Given the description of an element on the screen output the (x, y) to click on. 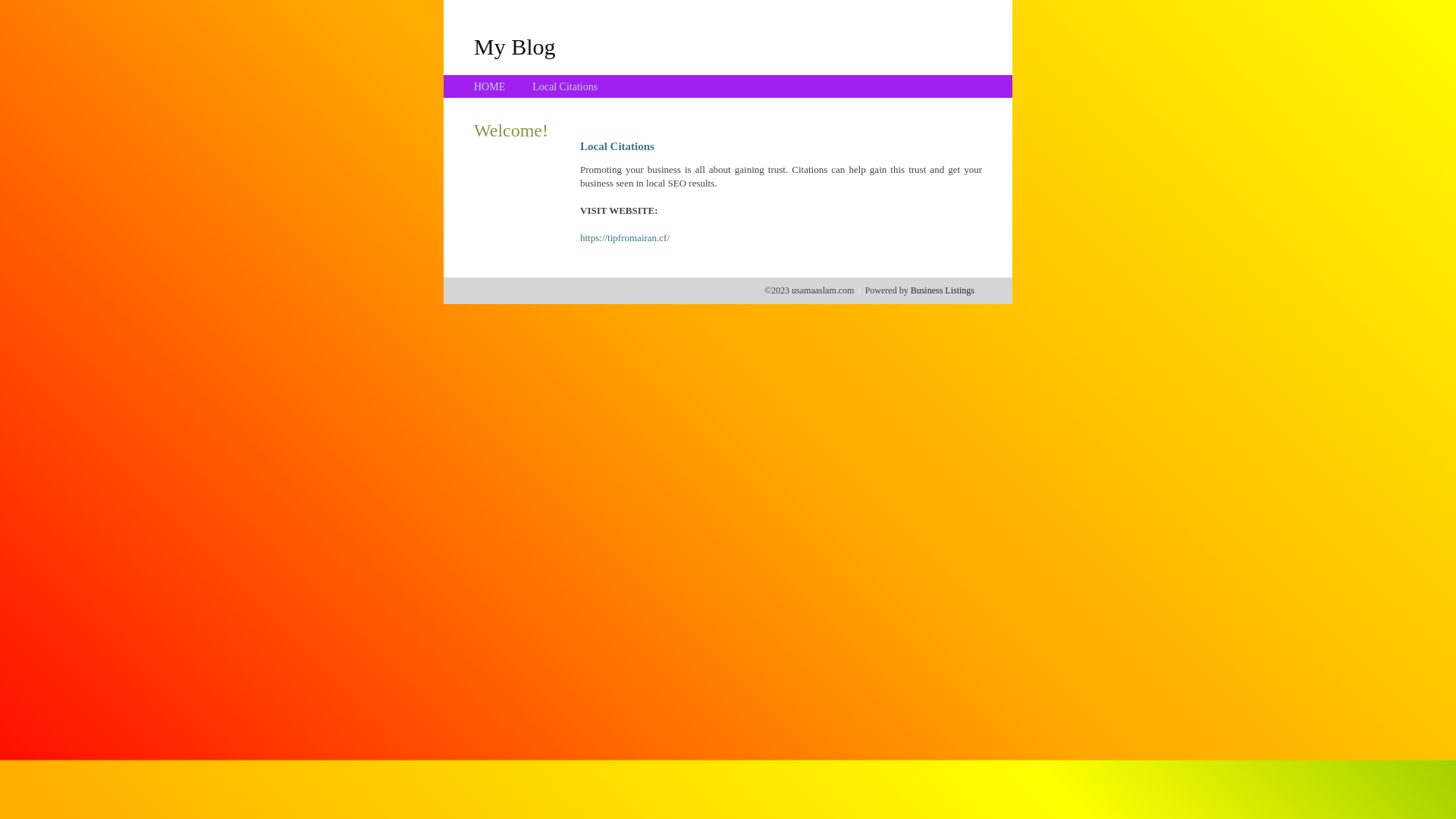
https://tipfromairan.cf/ Element type: text (624, 237)
Local Citations Element type: text (564, 86)
HOME Element type: text (489, 86)
My Blog Element type: text (514, 46)
Business Listings Element type: text (942, 290)
